Given the description of an element on the screen output the (x, y) to click on. 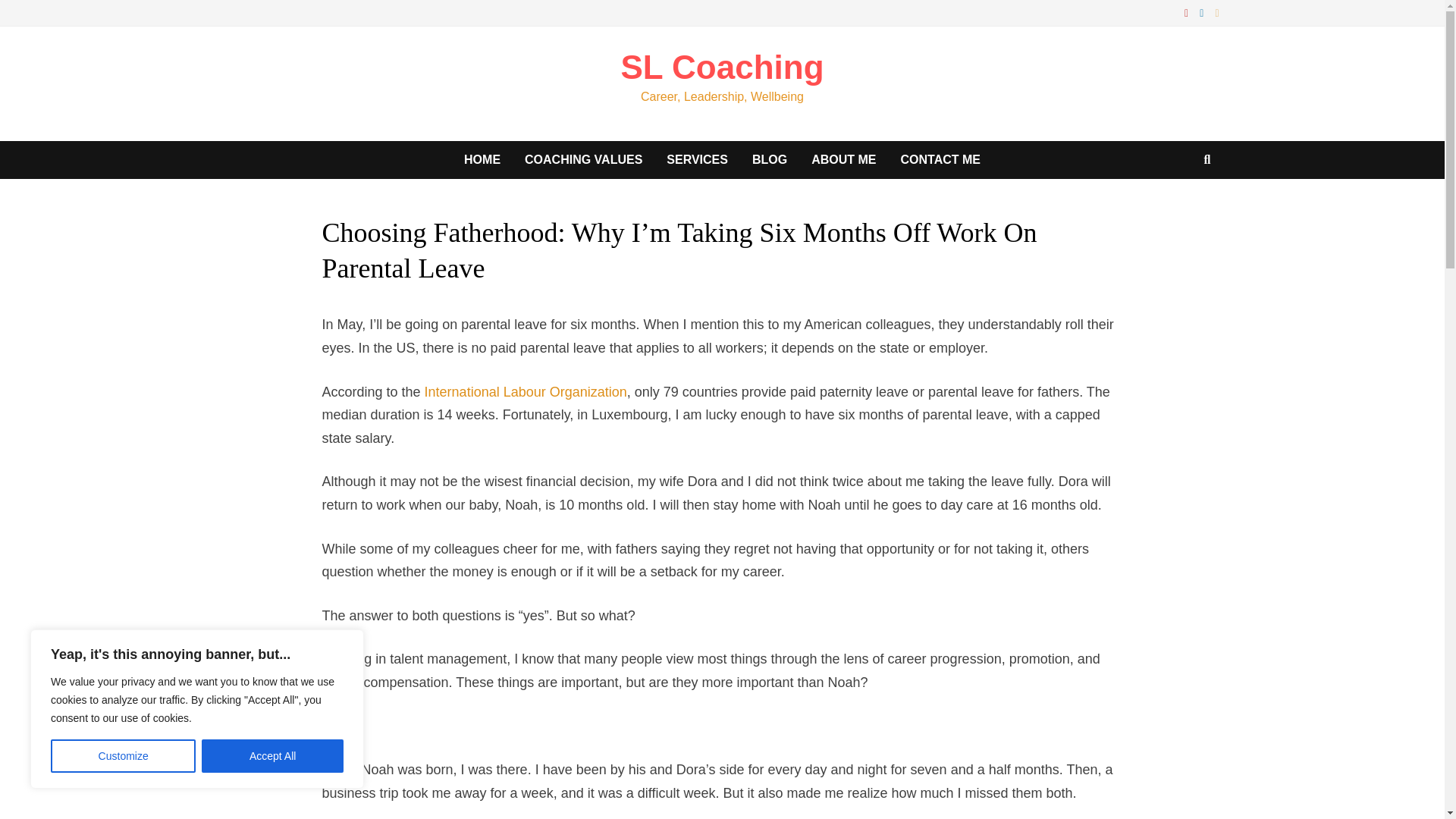
BLOG (769, 159)
CONTACT ME (939, 159)
SL Coaching (722, 66)
SERVICES (696, 159)
COACHING VALUES (582, 159)
International Labour Organization (526, 391)
ABOUT ME (843, 159)
Youtube (1187, 11)
Customize (122, 756)
HOME (481, 159)
LinkedIn (1203, 11)
Accept All (272, 756)
